Given the description of an element on the screen output the (x, y) to click on. 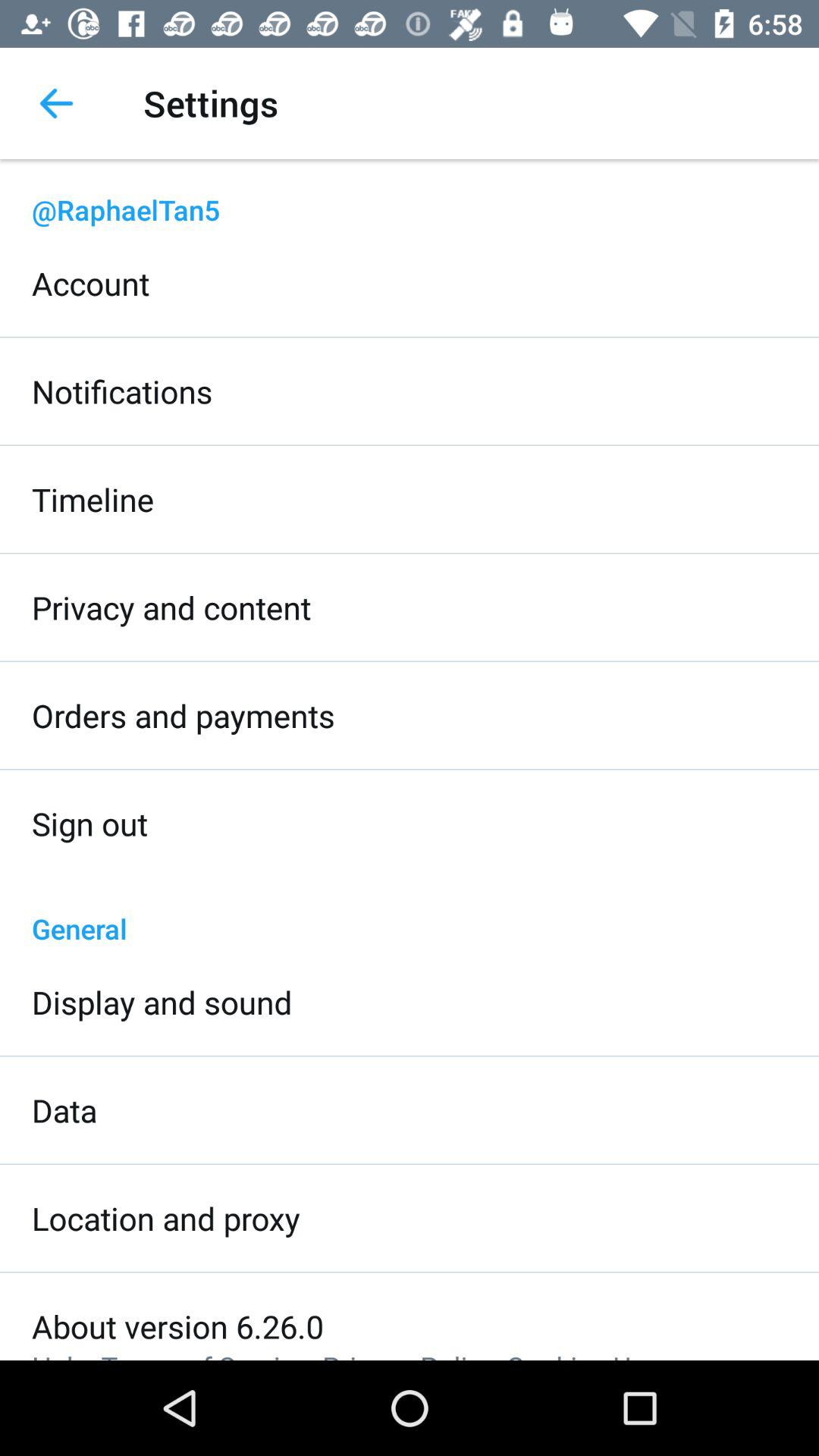
scroll to account (90, 282)
